Given the description of an element on the screen output the (x, y) to click on. 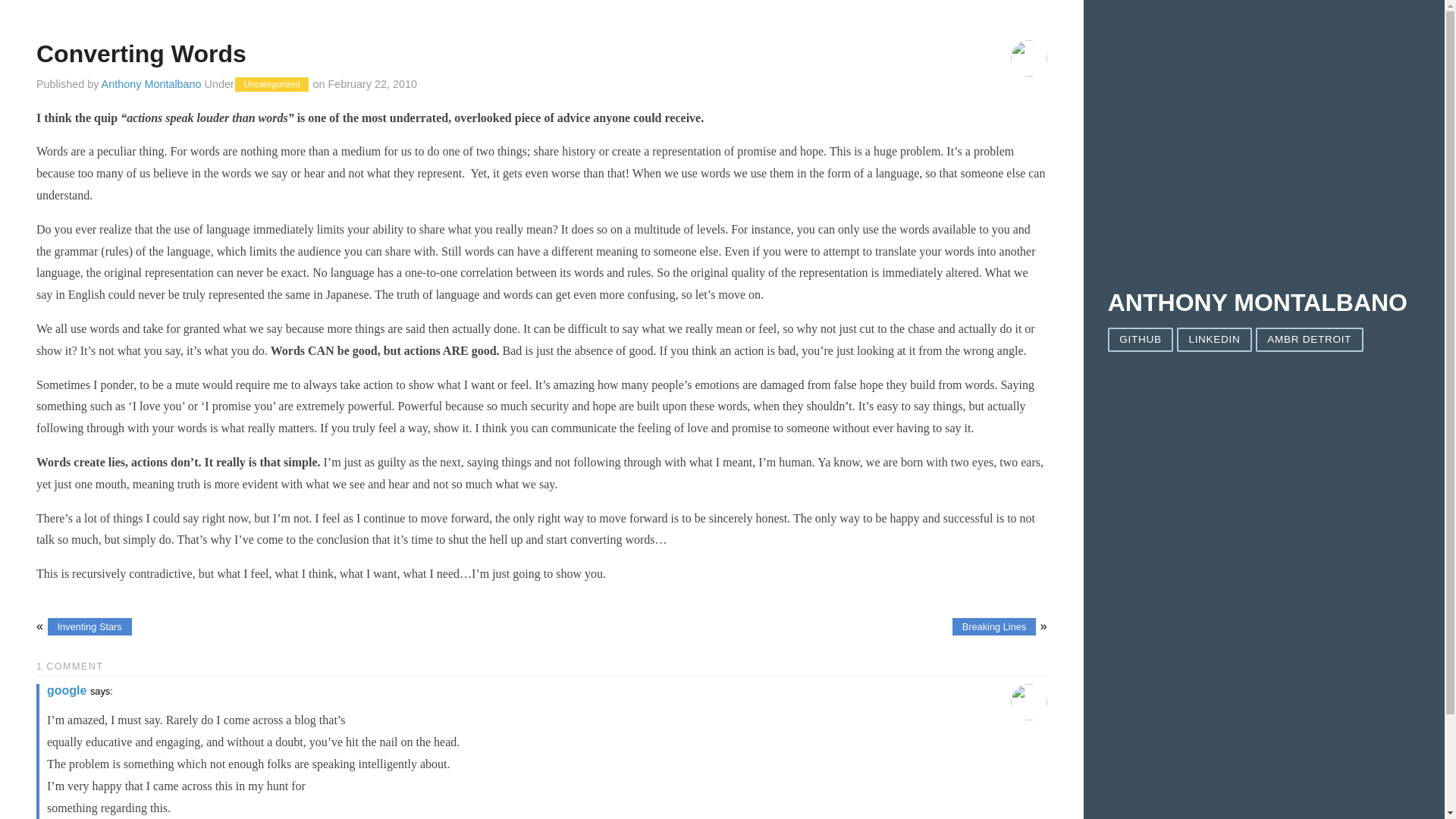
Uncategorized (271, 83)
Anthony Montalbano (151, 83)
AMBR DETROIT (1308, 339)
GITHUB (1140, 339)
Inventing Stars (90, 626)
ANTHONY MONTALBANO (1257, 302)
Posts by Anthony Montalbano (151, 83)
LINKEDIN (1214, 339)
Sign up (1392, 476)
View all posts in Uncategorized (271, 83)
google (65, 689)
Breaking Lines (993, 626)
